Given the description of an element on the screen output the (x, y) to click on. 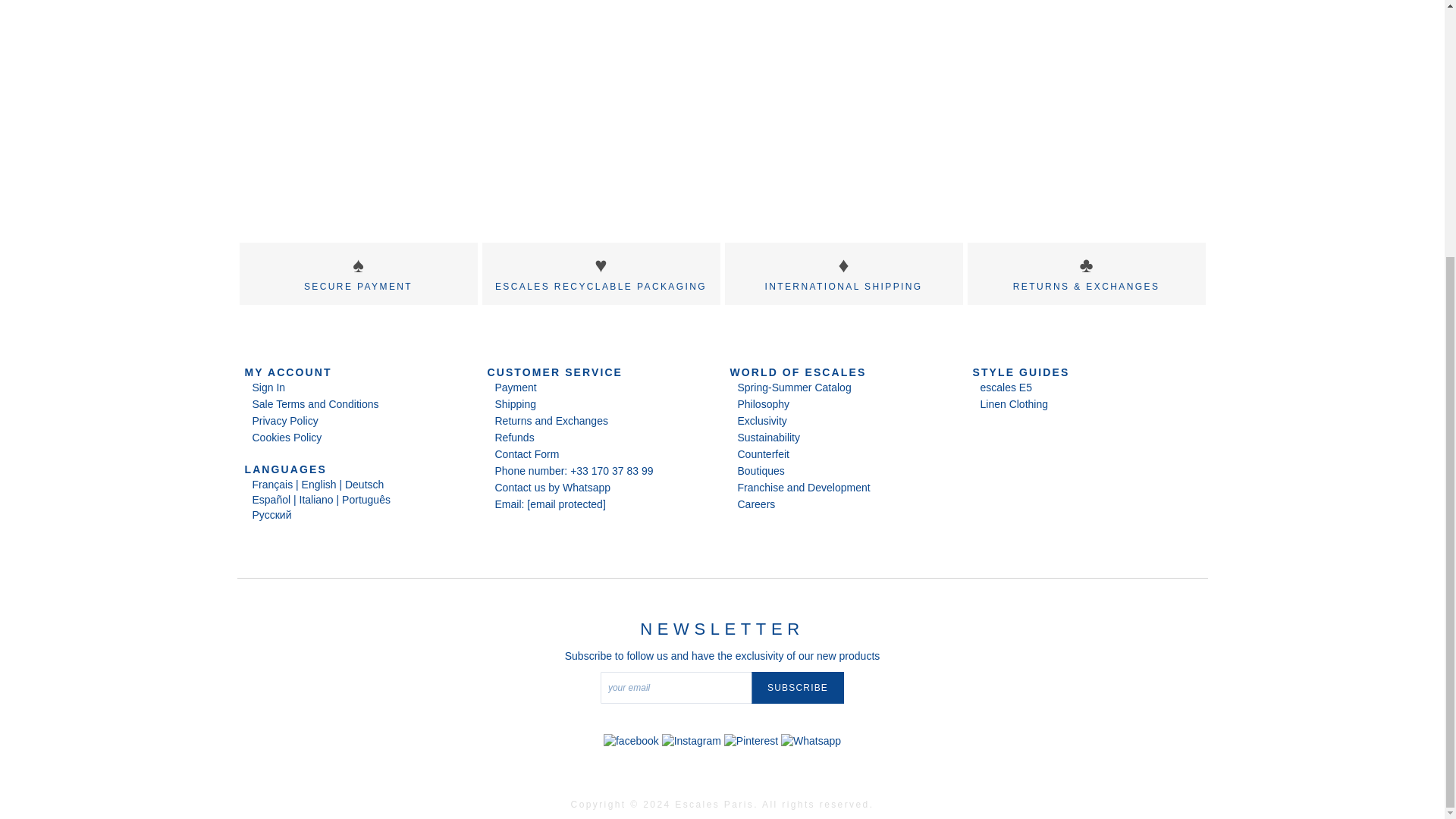
Sign In (268, 387)
Sale Terms and Conditions (314, 403)
Privacy Policy (284, 420)
